Given the description of an element on the screen output the (x, y) to click on. 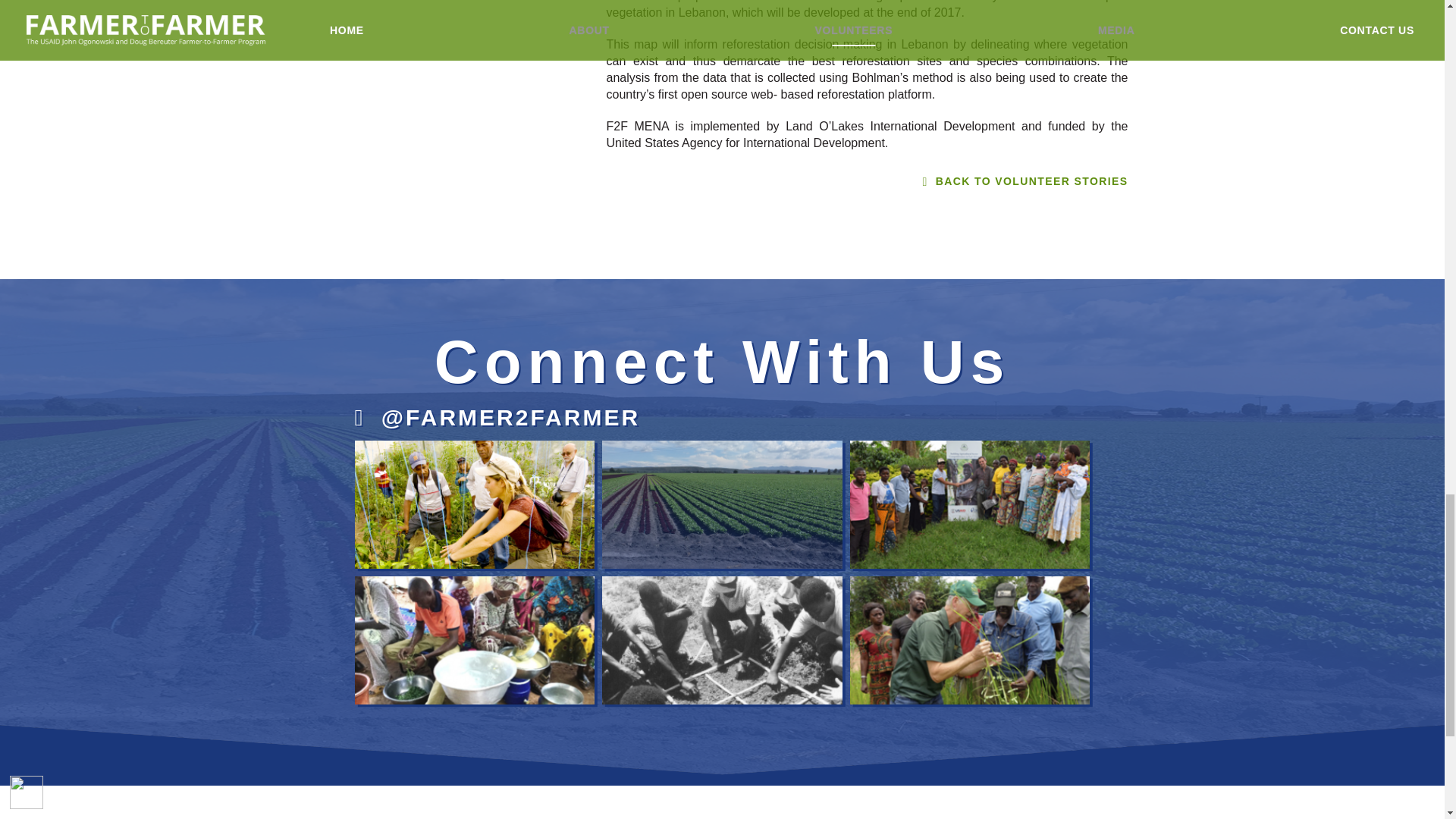
BACK TO VOLUNTEER STORIES (722, 181)
